Given the description of an element on the screen output the (x, y) to click on. 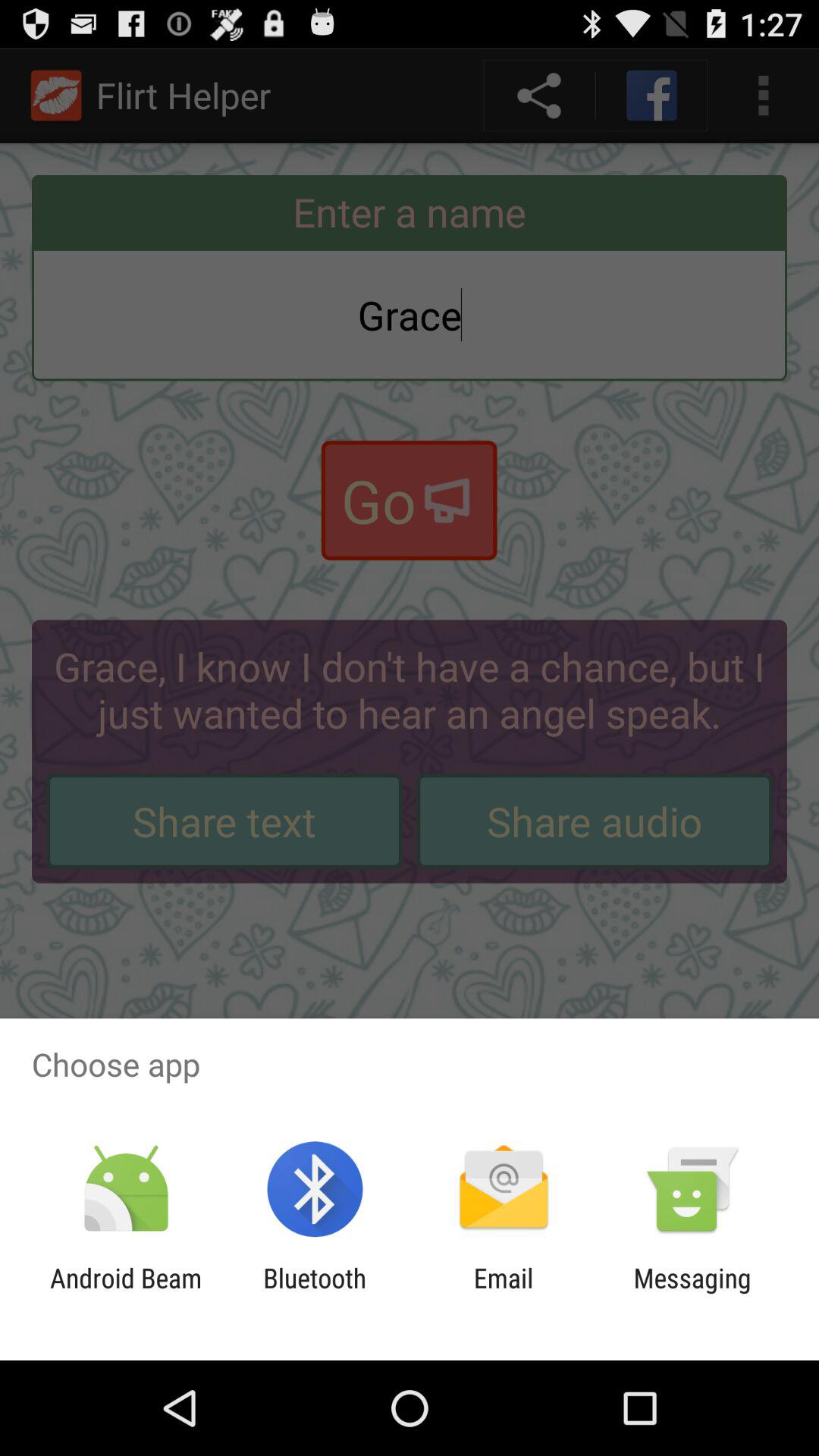
tap app to the right of bluetooth app (503, 1293)
